Given the description of an element on the screen output the (x, y) to click on. 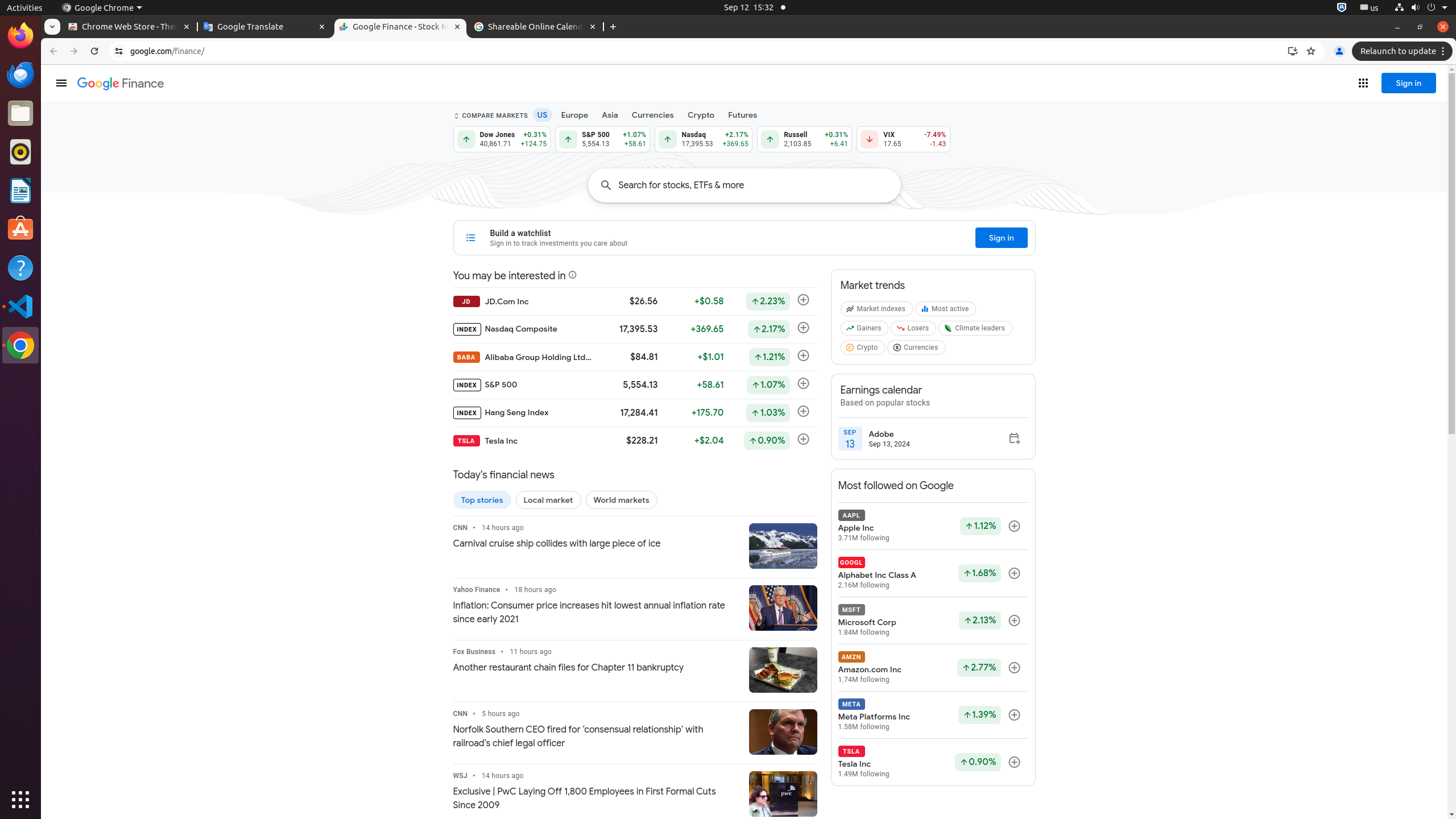
COMPARE MARKETS Element type: push-button (490, 115)
Firefox Web Browser Element type: push-button (20, 35)
Dow Jones 40,861.71 Up by 0.31% +124.75 Element type: link (501, 139)
Asia Element type: page-tab (609, 114)
BABA Alibaba Group Holding Ltd - ADR $84.81 +$1.01 Up by 1.21% Follow Element type: link (634, 356)
